Given the description of an element on the screen output the (x, y) to click on. 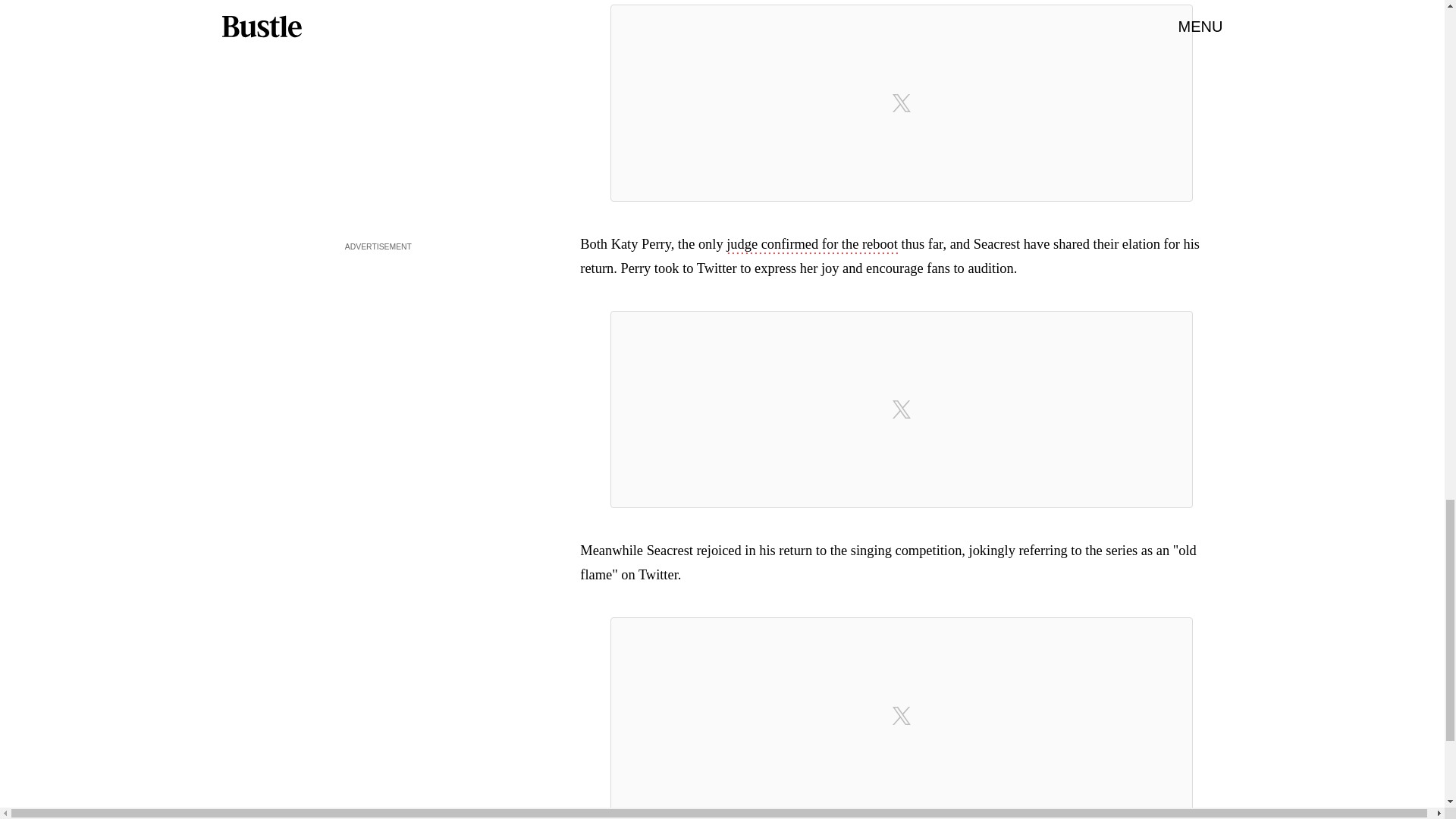
judge confirmed for the reboot (812, 245)
